Given the description of an element on the screen output the (x, y) to click on. 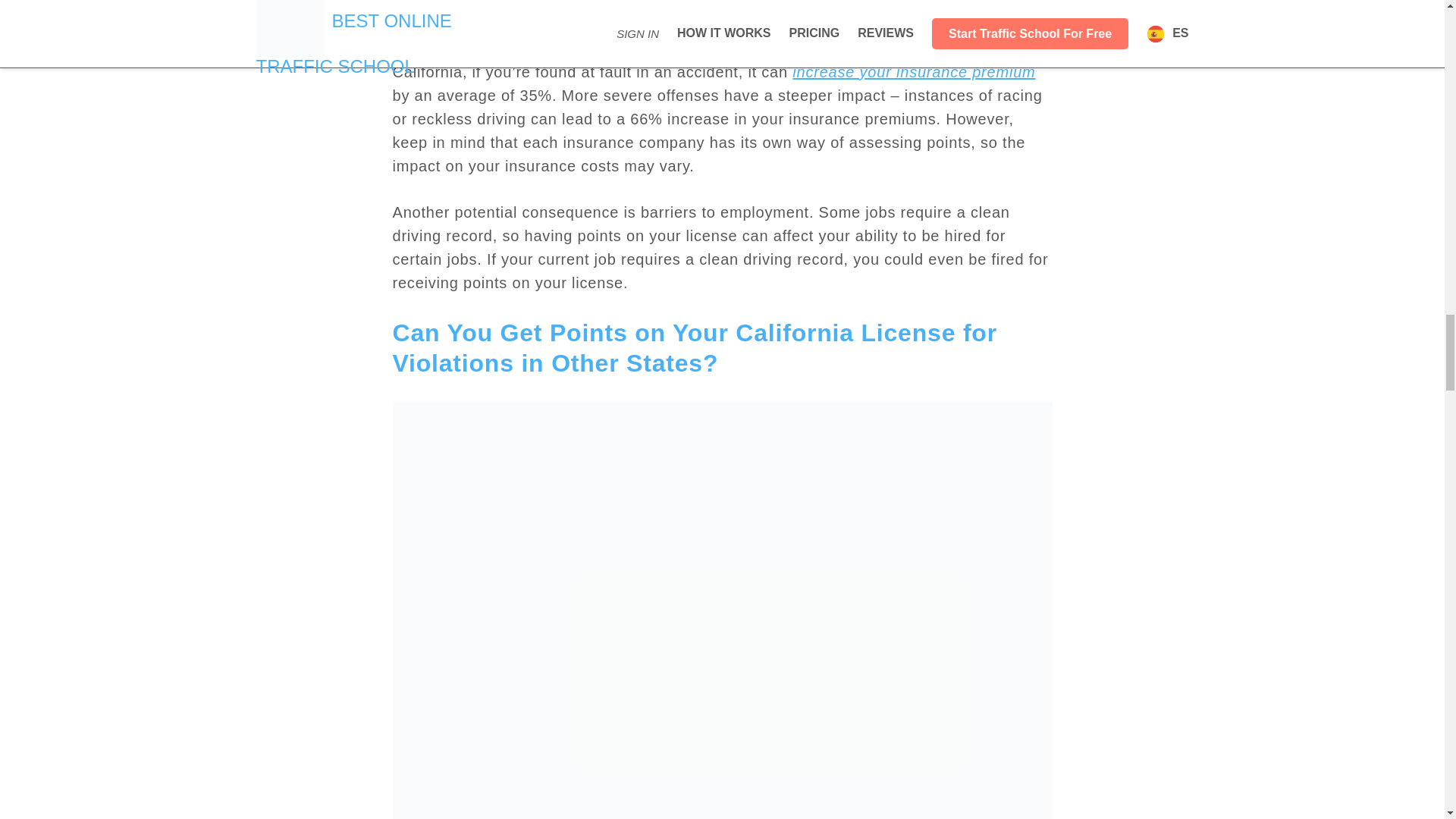
increase your insurance premium (913, 71)
